Given the description of an element on the screen output the (x, y) to click on. 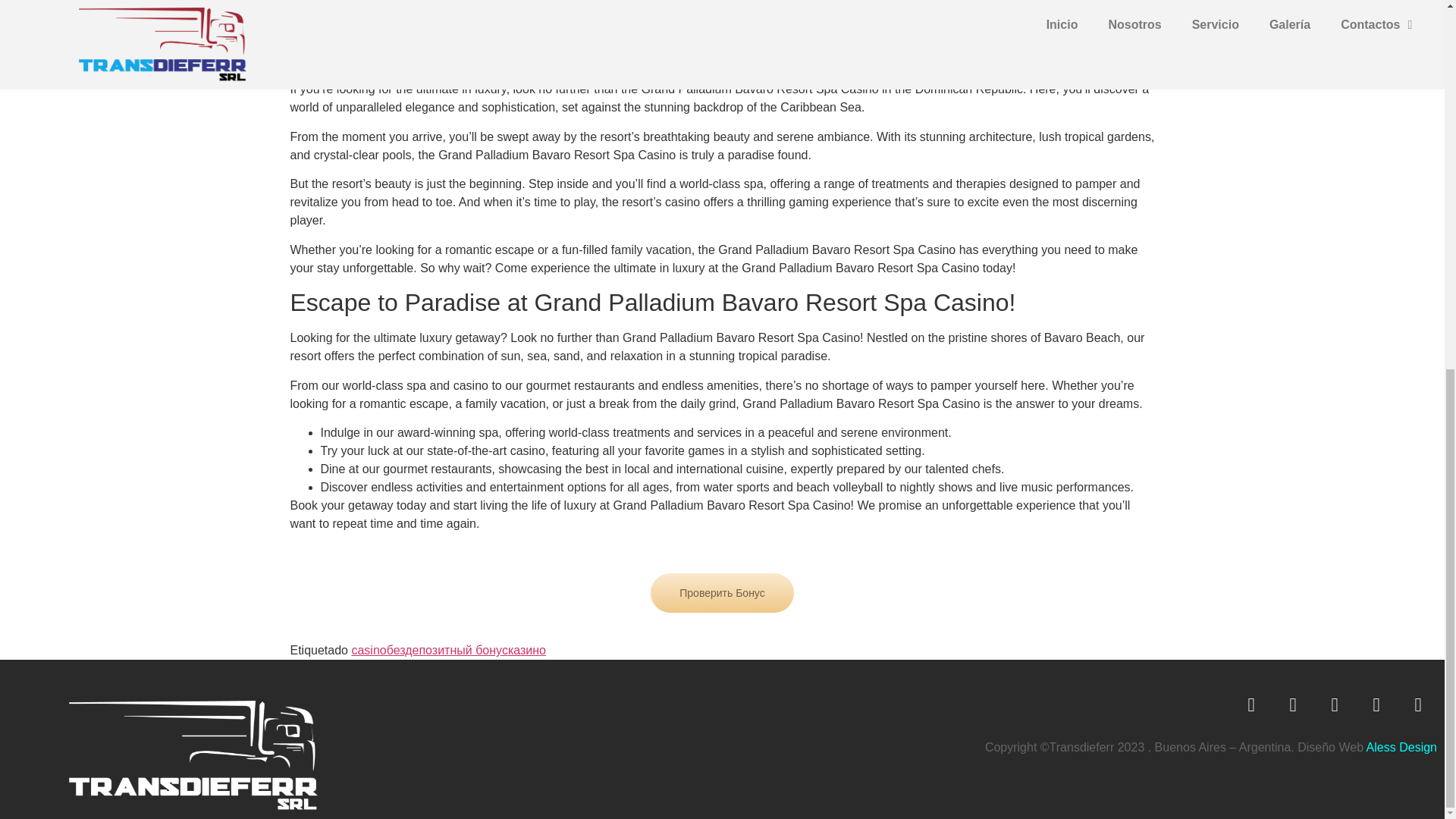
casino (367, 649)
